Given the description of an element on the screen output the (x, y) to click on. 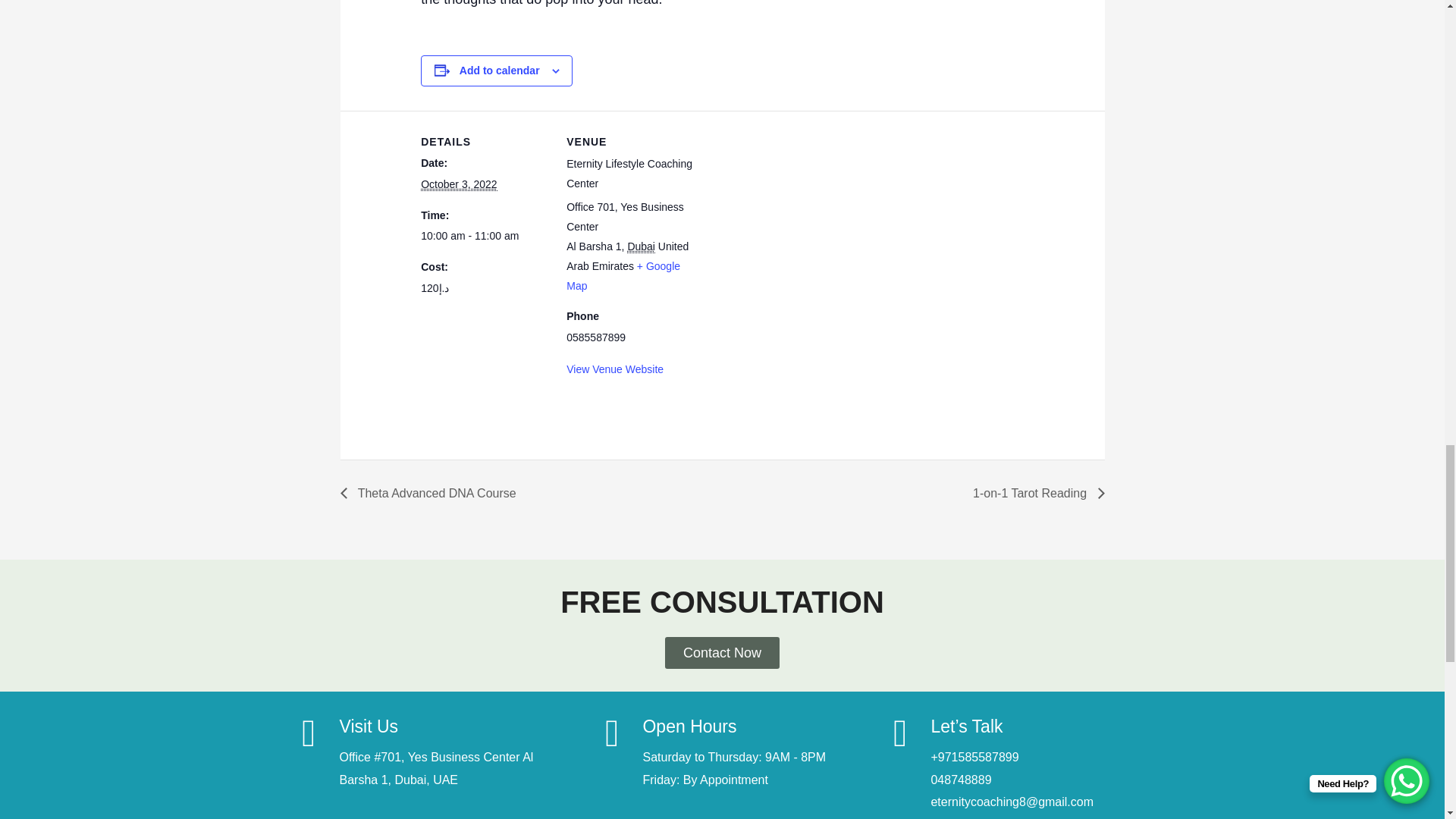
2022-10-03 (458, 184)
Dubai (641, 246)
2022-10-03 (484, 236)
Click to view a Google Map (622, 275)
Page 1 (721, 4)
